Given the description of an element on the screen output the (x, y) to click on. 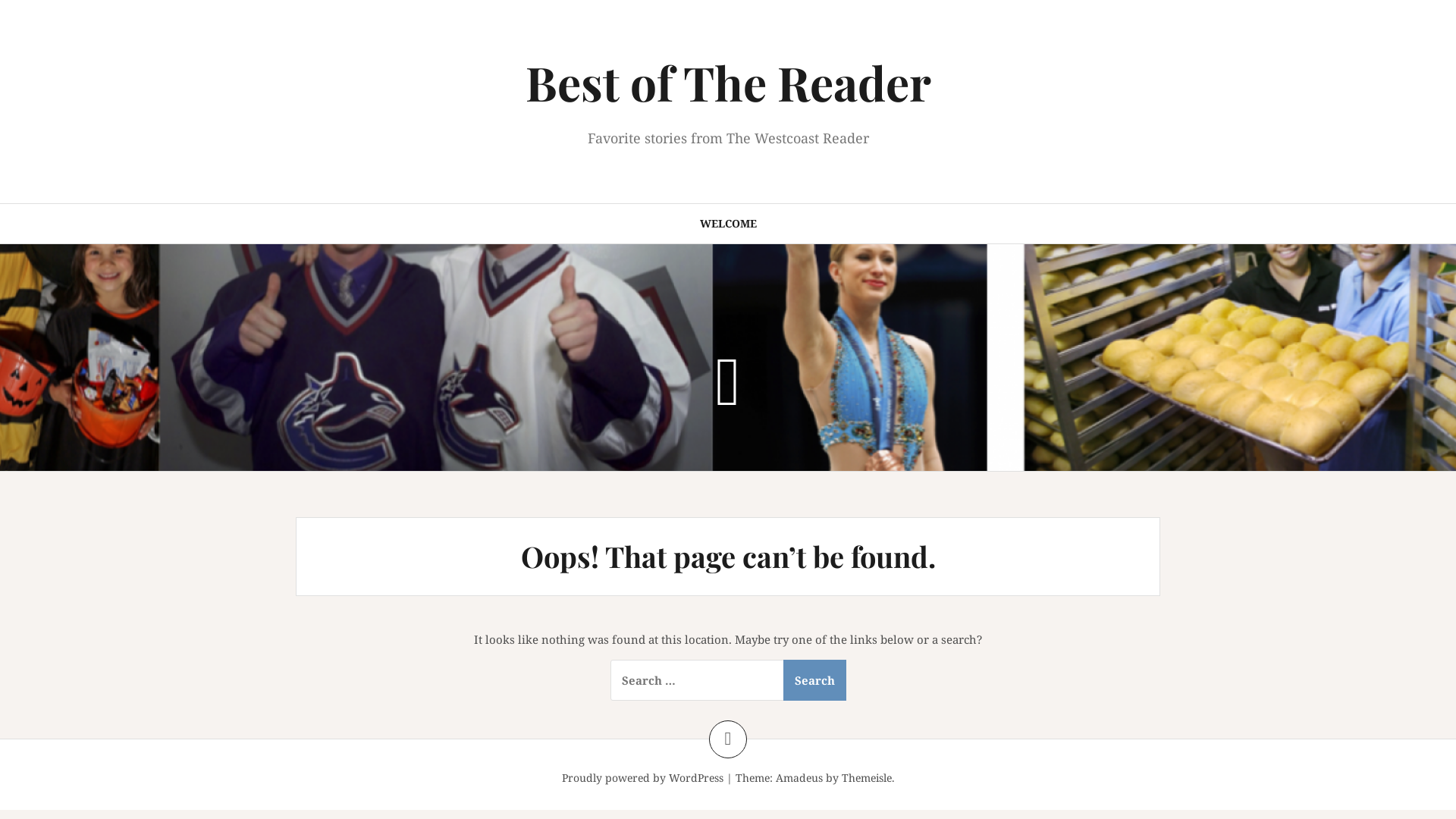
WELCOME Element type: text (727, 223)
Amadeus Element type: text (798, 777)
Skip to content Element type: text (0, 0)
Search Element type: text (813, 679)
Best of The Reader Element type: text (727, 81)
Proudly powered by WordPress Element type: text (641, 777)
